Given the description of an element on the screen output the (x, y) to click on. 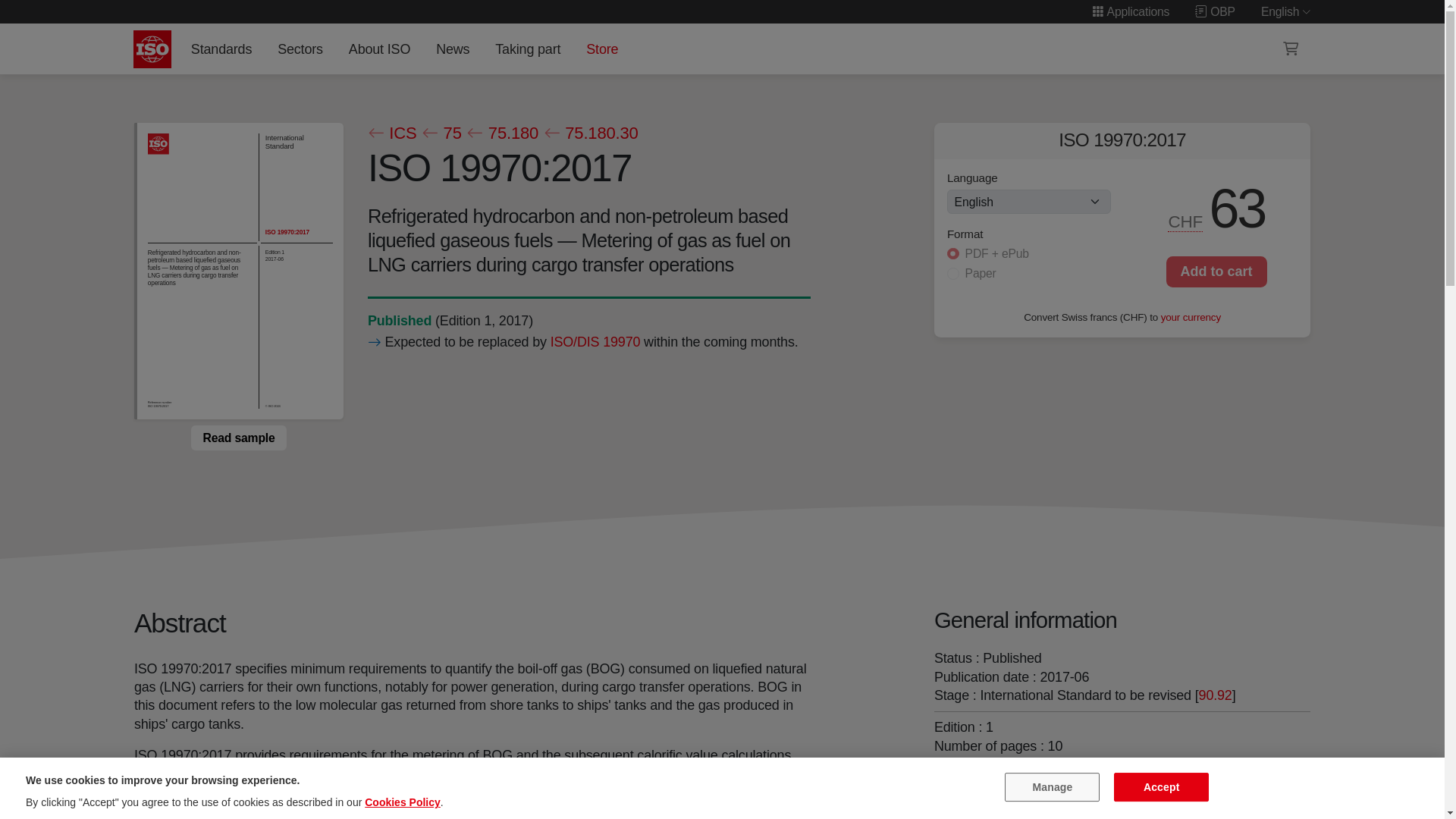
International Organization for Standardization (152, 48)
Sectors (300, 48)
90.92 (1214, 694)
Shopping cart (1290, 49)
Taking part (528, 48)
Published (398, 320)
Store (601, 48)
Standards (220, 48)
your currency (1190, 316)
 OBP (1214, 11)
90.92 (1214, 694)
75.180.30 (590, 133)
